Given the description of an element on the screen output the (x, y) to click on. 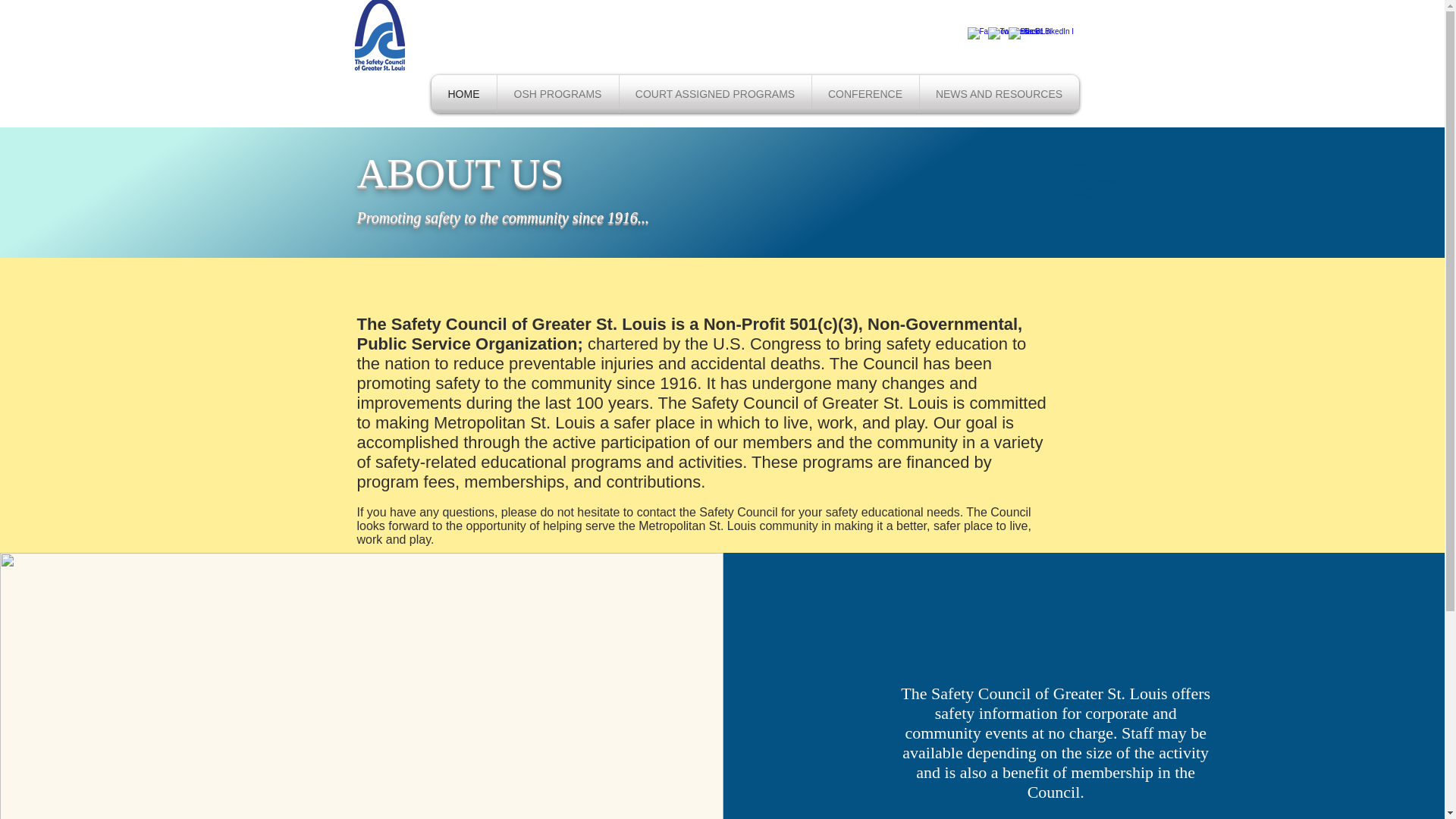
CONFERENCE (864, 94)
COURT ASSIGNED PROGRAMS (714, 94)
OSH PROGRAMS (557, 94)
NEWS AND RESOURCES (998, 94)
HOME (463, 94)
